Given the description of an element on the screen output the (x, y) to click on. 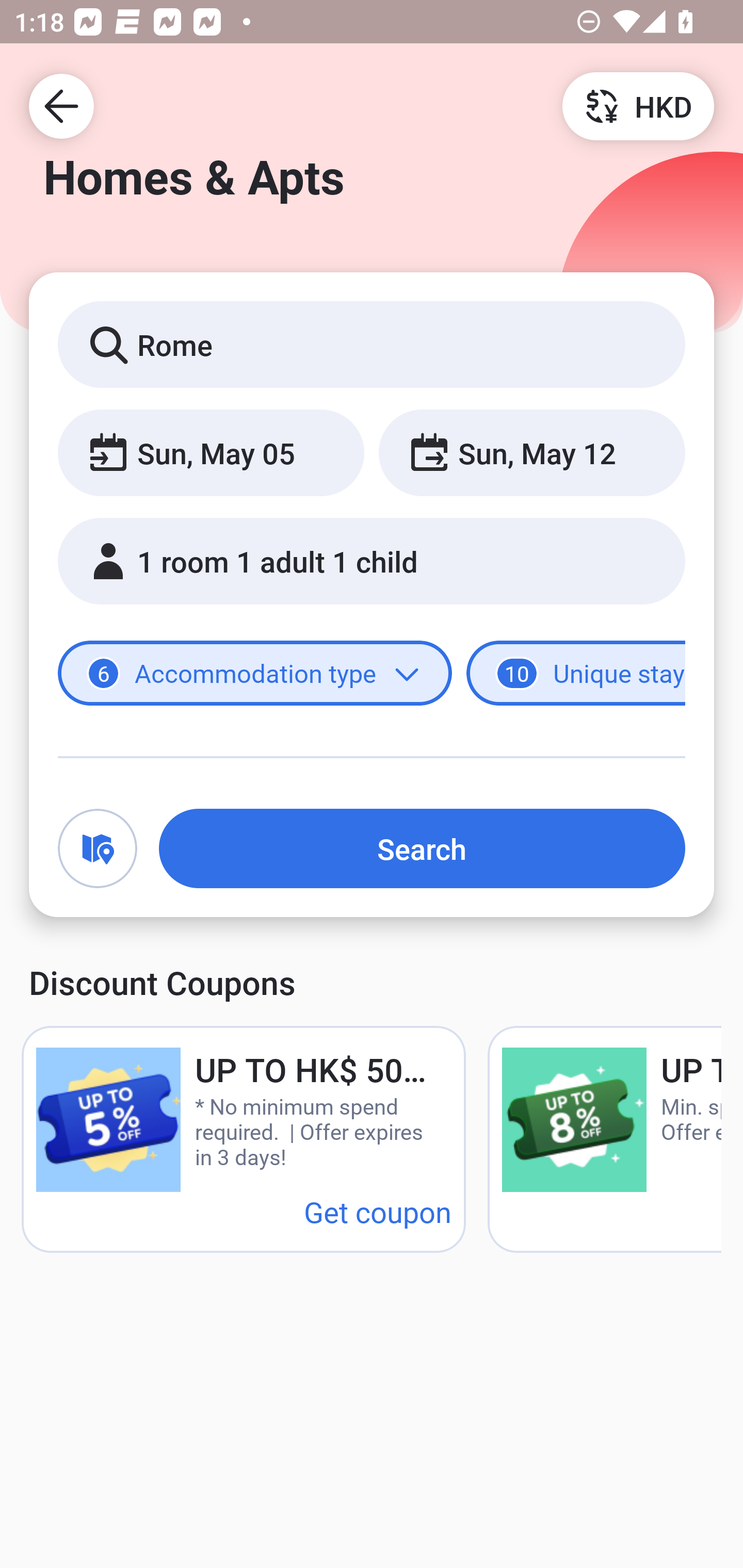
HKD (638, 105)
Rome (371, 344)
Sun, May 05 (210, 452)
Sun, May 12 (531, 452)
1 room 1 adult 1 child (371, 561)
6 Accommodation type (254, 673)
10 Unique stays (575, 673)
Search (422, 848)
Get coupon (377, 1211)
